Given the description of an element on the screen output the (x, y) to click on. 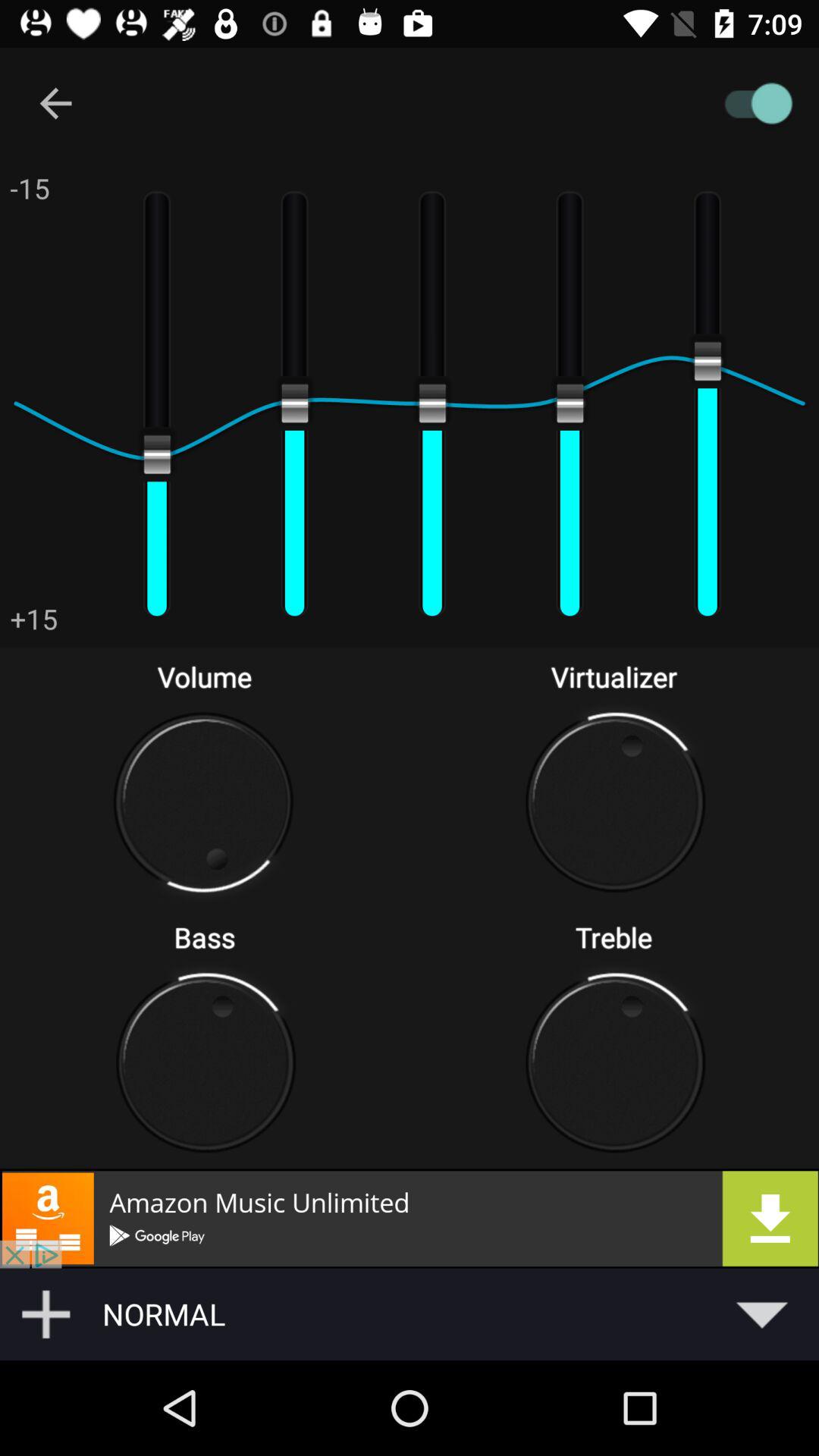
select the volume button (204, 801)
click on the normal drop down (455, 1313)
